Given the description of an element on the screen output the (x, y) to click on. 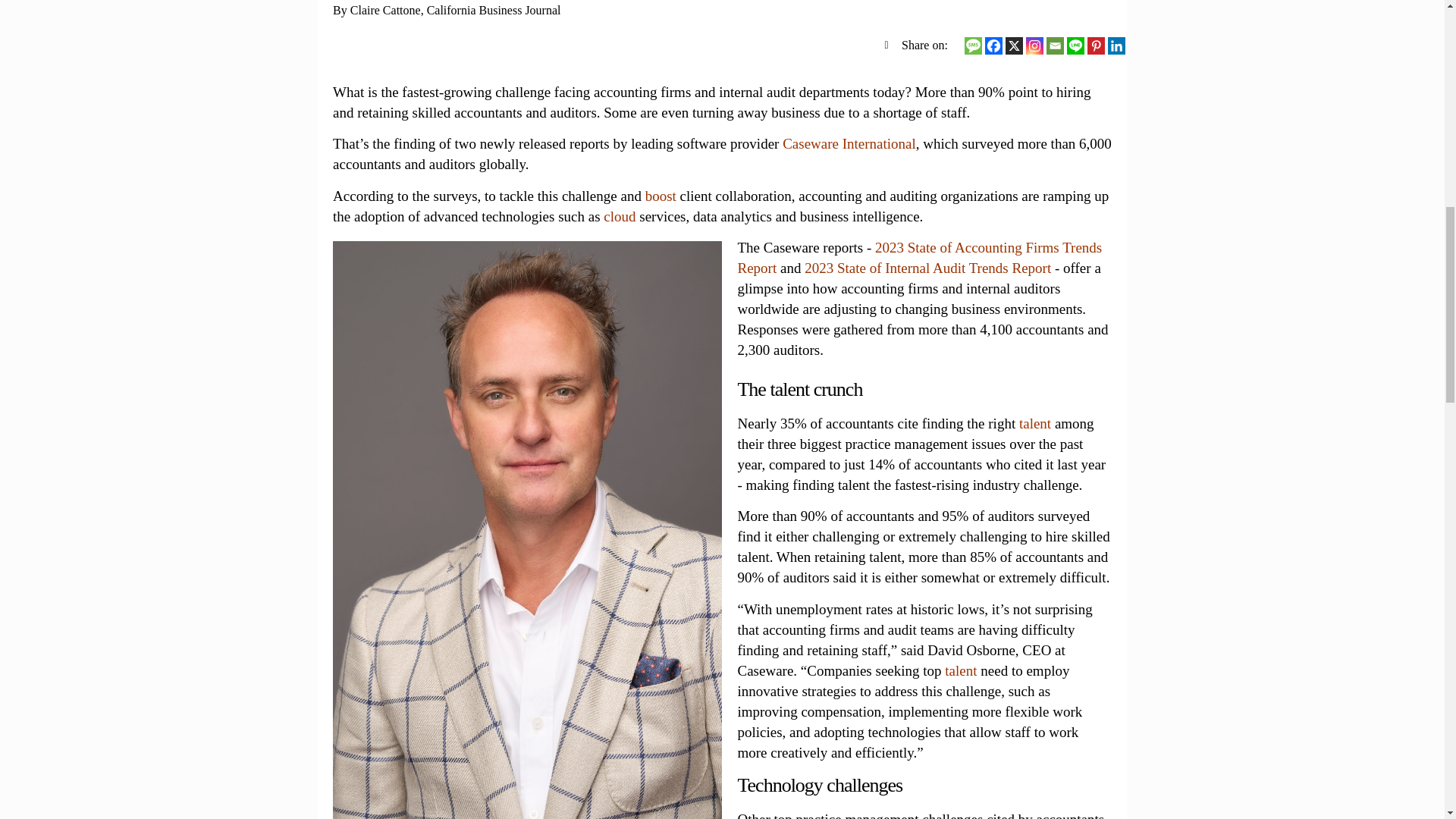
Posts tagged with cloud (619, 216)
Facebook (994, 45)
Email (1055, 45)
Line (1075, 45)
Posts tagged with boost (661, 195)
Linkedin (1116, 45)
X (1014, 45)
Pinterest (1096, 45)
Instagram (1034, 45)
SMS (972, 45)
